Given the description of an element on the screen output the (x, y) to click on. 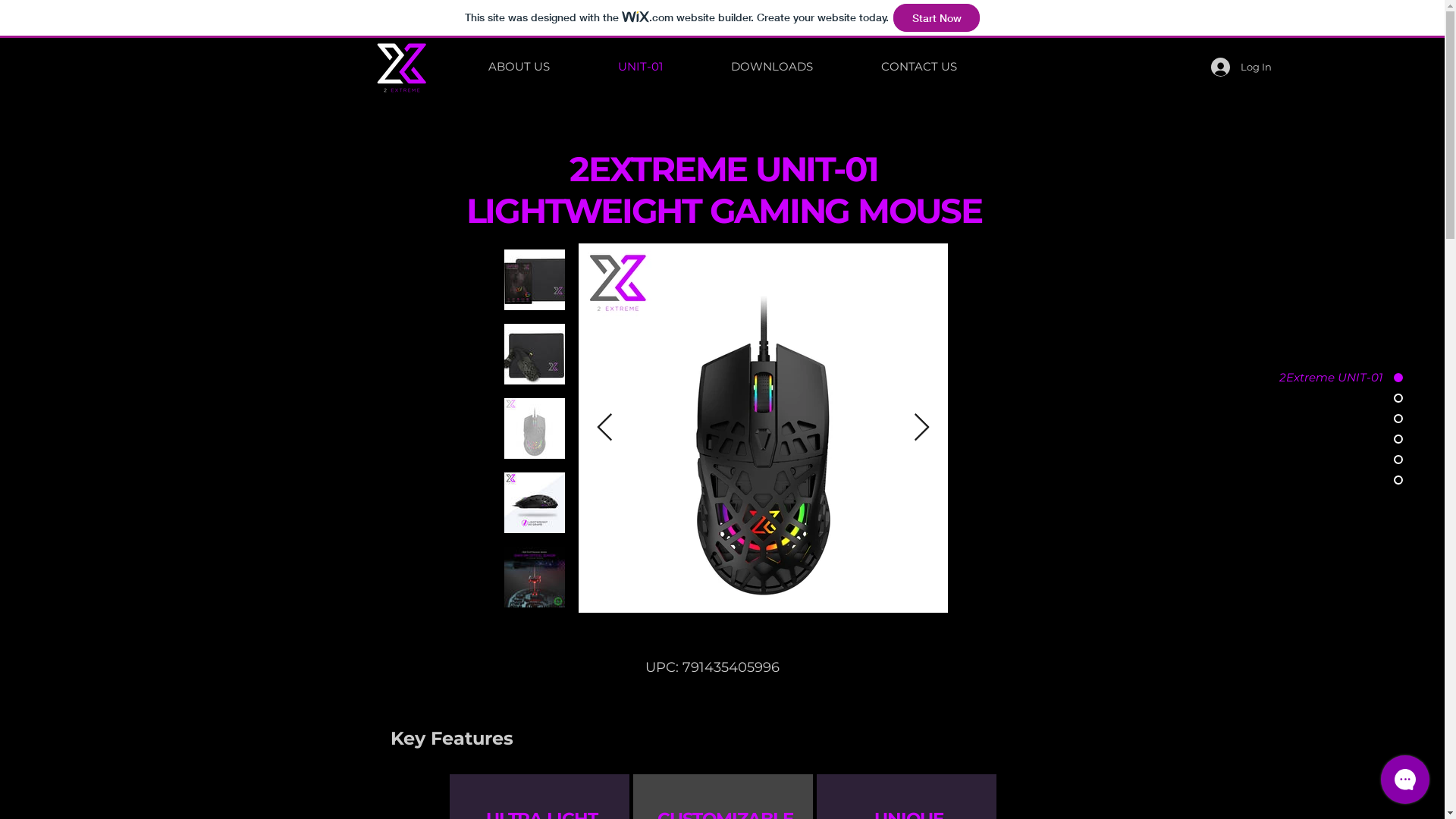
2Extreme UNIT-01 Element type: text (1328, 377)
UNIT-01 Element type: text (639, 66)
DOWNLOADS Element type: text (771, 66)
CONTACT US Element type: text (918, 66)
Log In Element type: text (1230, 67)
ABOUT US Element type: text (518, 66)
